Given the description of an element on the screen output the (x, y) to click on. 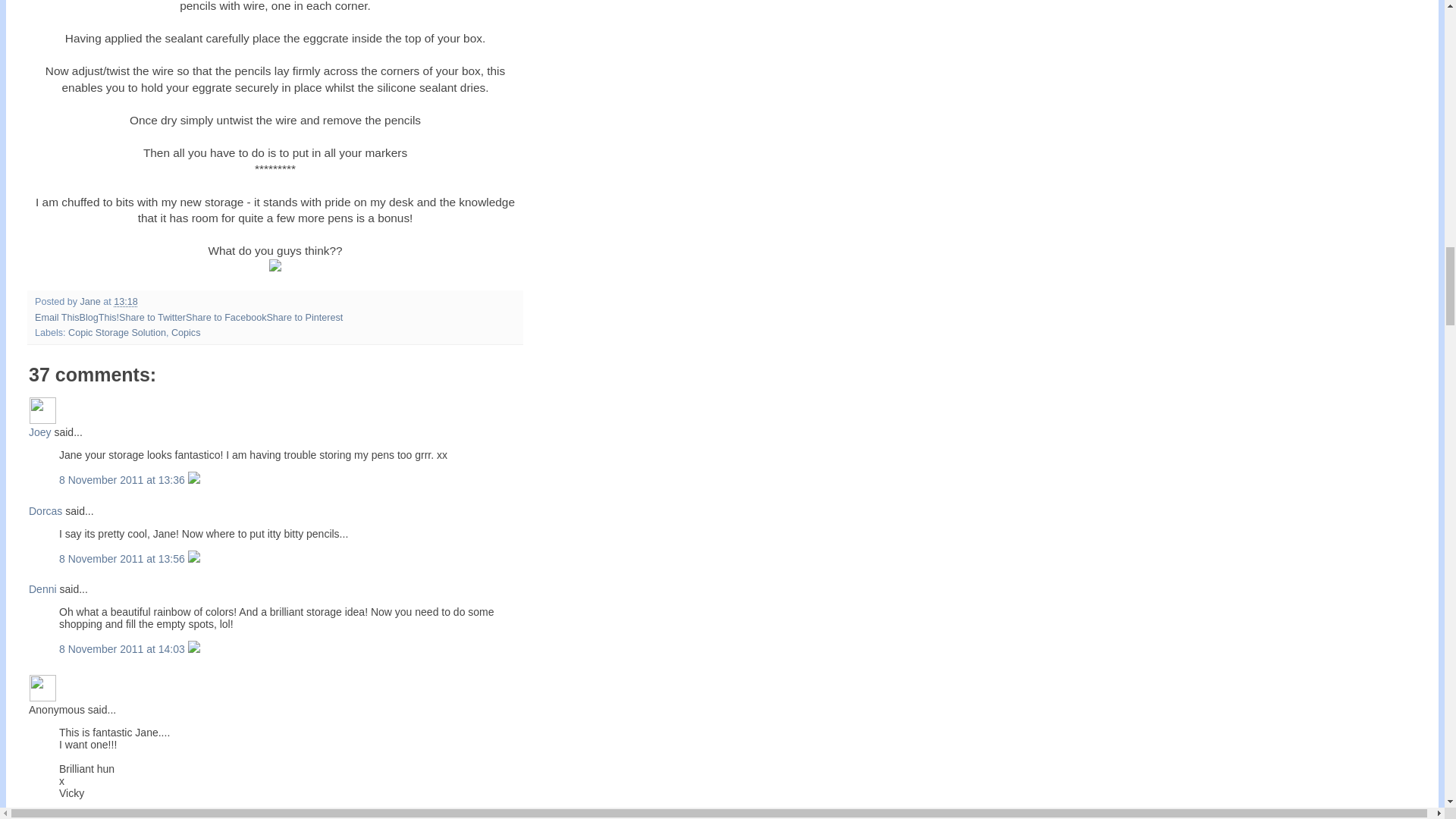
Share to Pinterest (304, 317)
8 November 2011 at 14:06 (123, 815)
comment permalink (123, 558)
comment permalink (123, 480)
Share to Pinterest (304, 317)
Share to Facebook (226, 317)
author profile (91, 301)
Share to Twitter (152, 317)
Delete Comment (193, 558)
8 November 2011 at 14:03 (123, 648)
Share to Twitter (152, 317)
BlogThis! (99, 317)
Copic Storage Solution (116, 332)
Dorcas (45, 510)
comment permalink (123, 648)
